Given the description of an element on the screen output the (x, y) to click on. 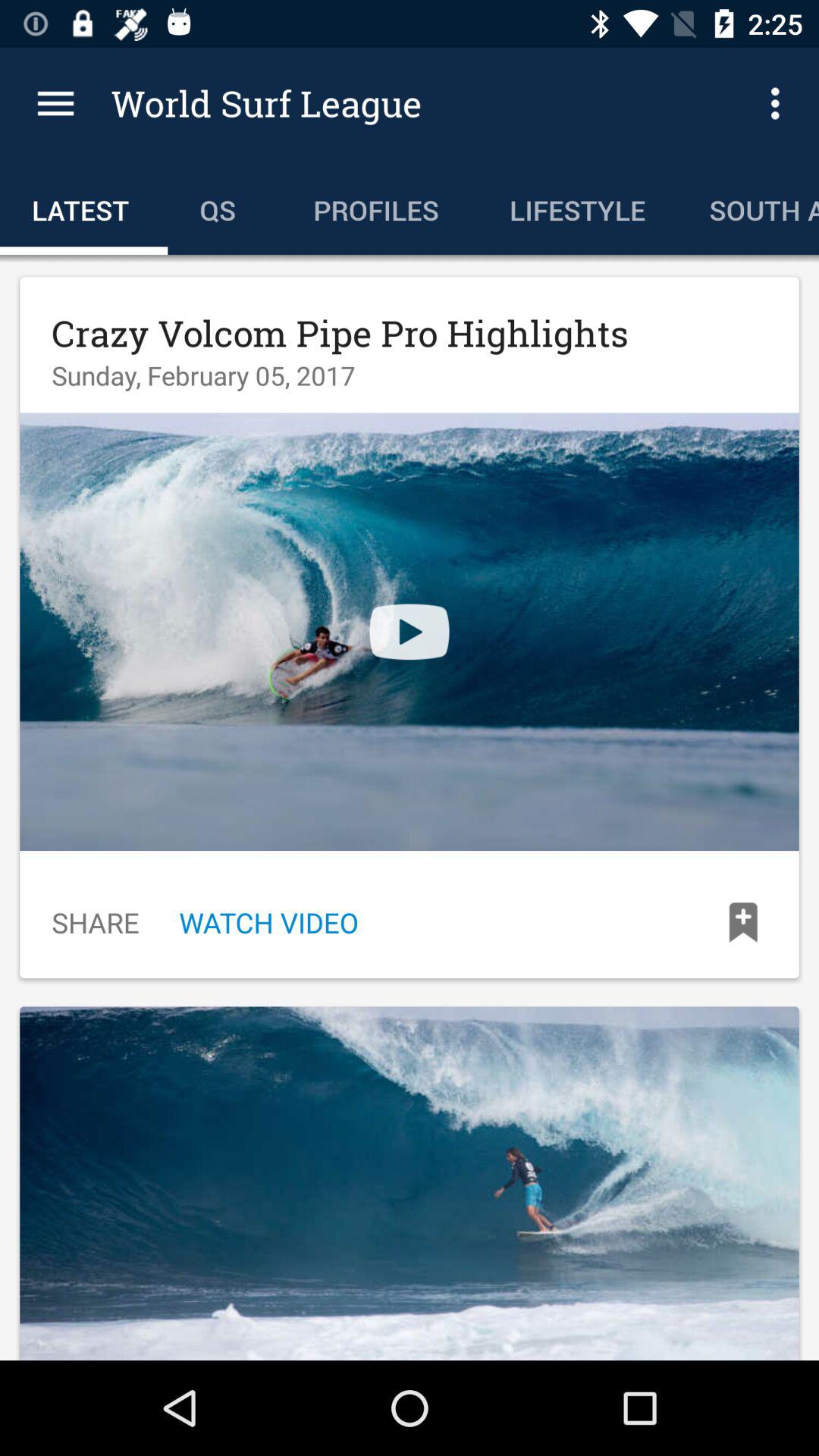
turn on the south america item (748, 206)
